Given the description of an element on the screen output the (x, y) to click on. 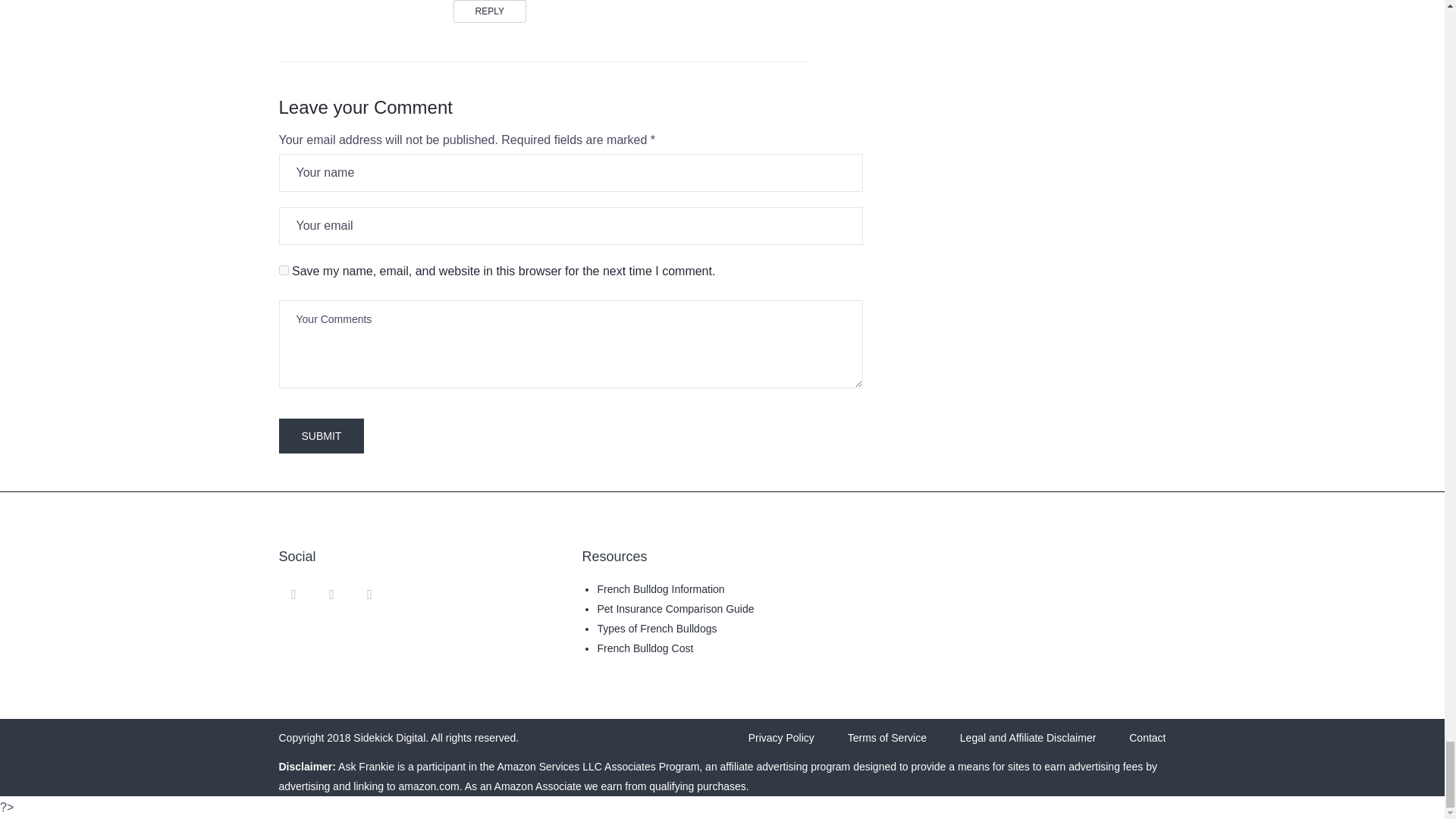
Privacy Policy (780, 737)
Terms of Service (886, 737)
SUBMIT (322, 435)
Legal and Affiliate Disclaimer (1027, 737)
yes (283, 270)
